Given the description of an element on the screen output the (x, y) to click on. 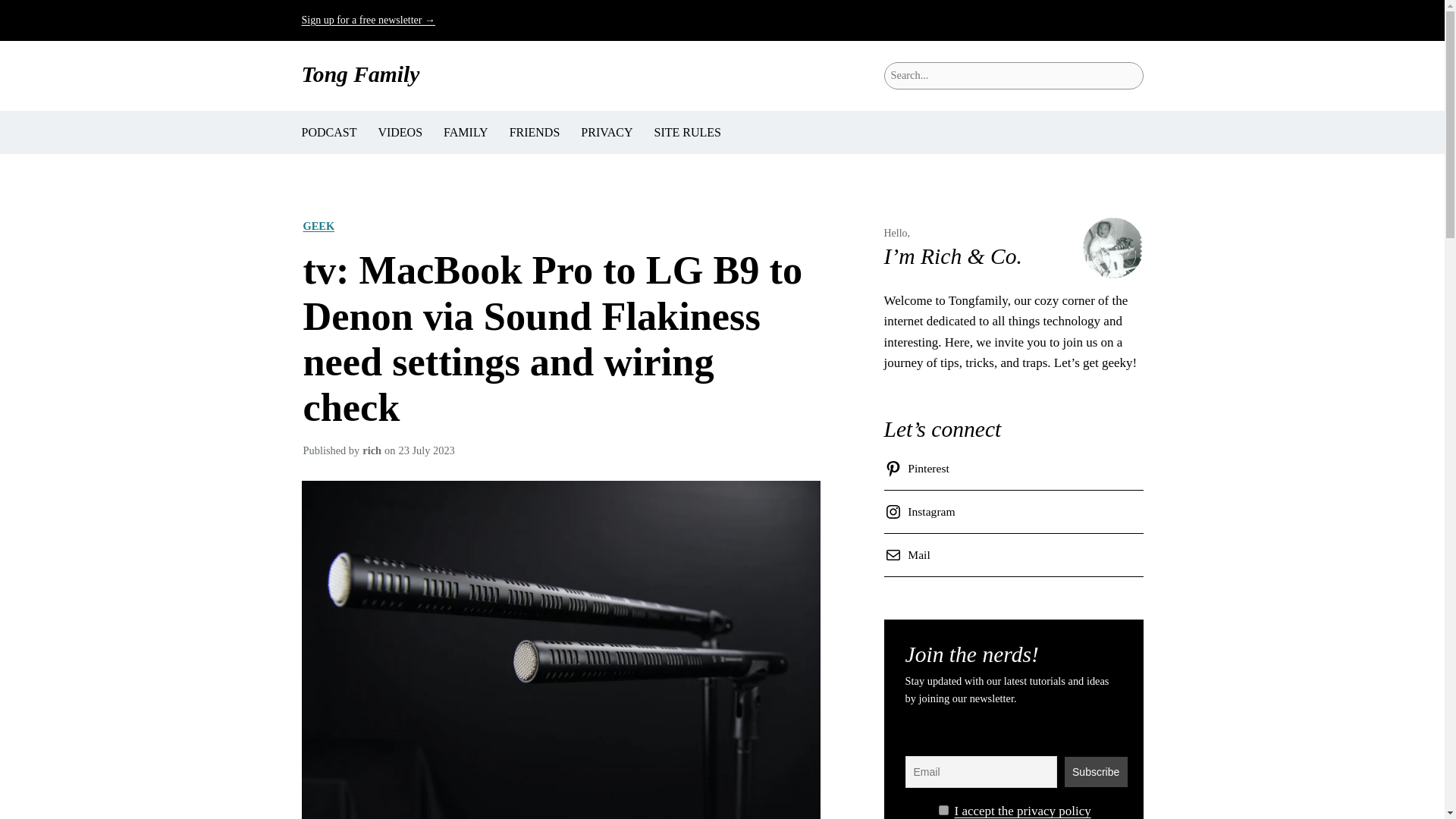
Pinterest (919, 468)
SITE RULES (686, 132)
FAMILY (465, 132)
on (944, 809)
PRIVACY (605, 132)
Instagram (921, 511)
Tong Family (360, 74)
Subscribe (1095, 771)
PODCAST (328, 132)
FRIENDS (534, 132)
Mail (909, 555)
GEEK (318, 225)
VIDEOS (399, 132)
I accept the privacy policy (1021, 810)
